Given the description of an element on the screen output the (x, y) to click on. 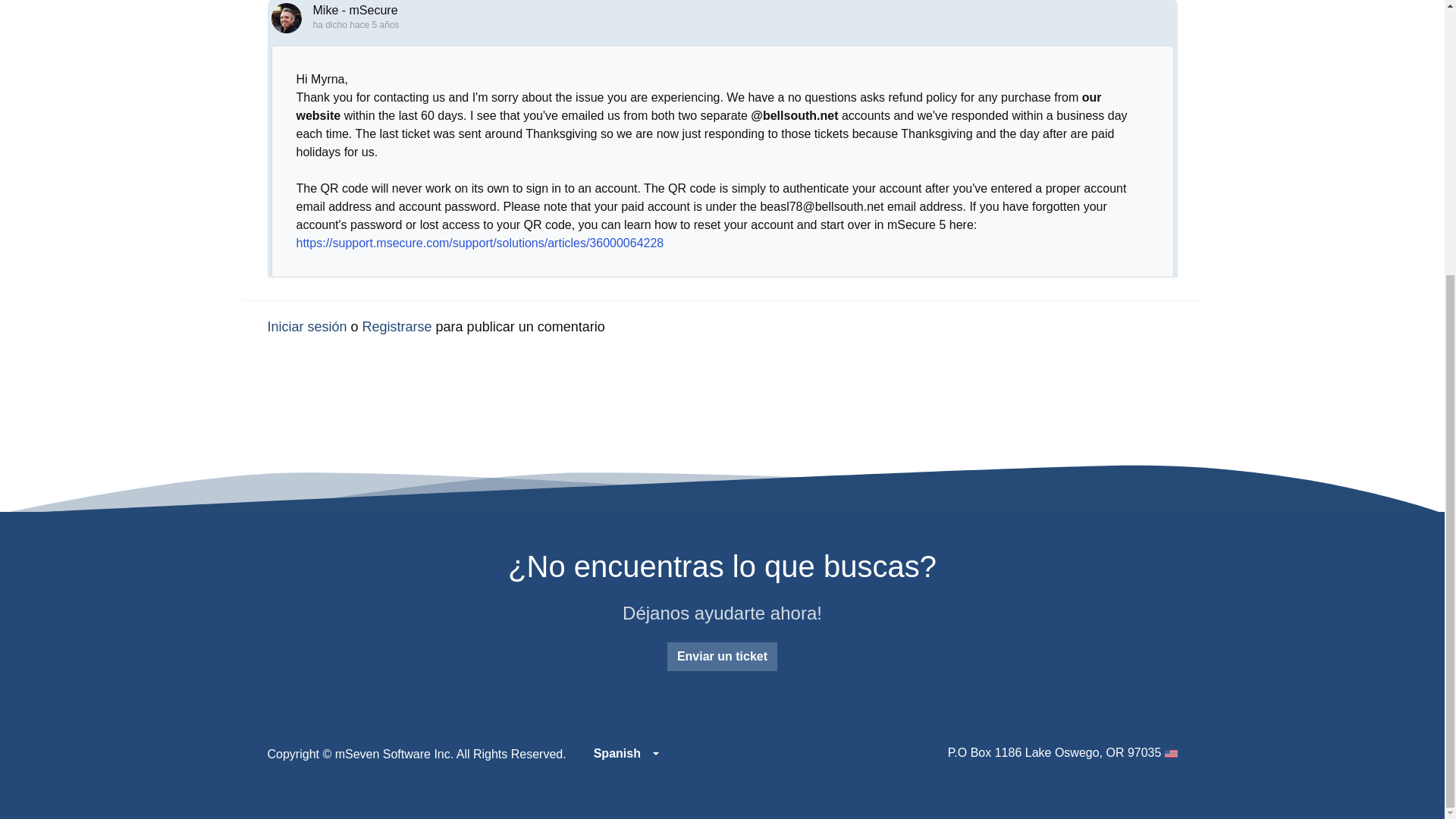
Enviar un ticket (721, 656)
Registrarse (397, 326)
Lun, Dic 2, 2019 a  9:59 A. M. (373, 24)
